Given the description of an element on the screen output the (x, y) to click on. 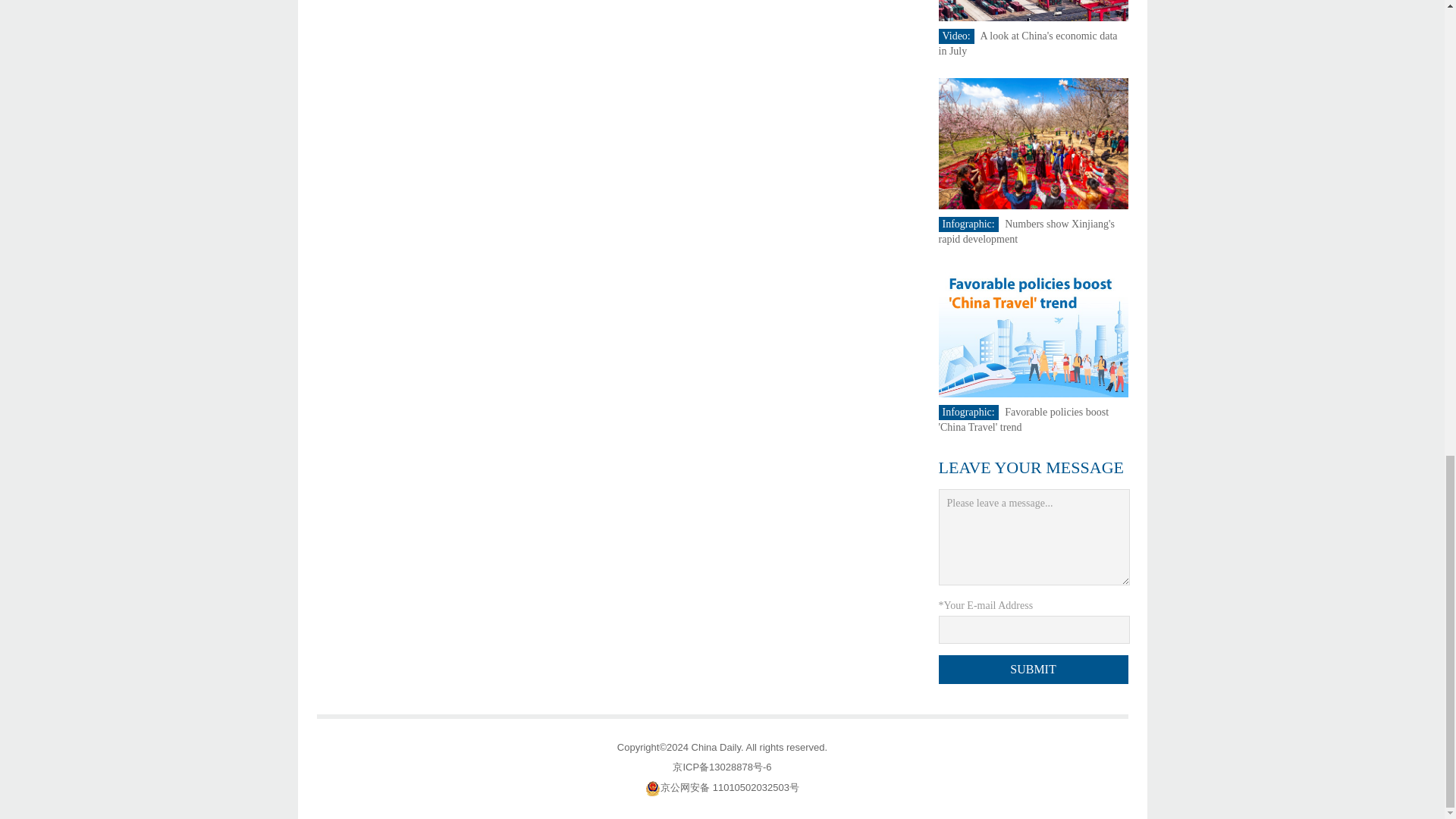
LEAVE YOUR MESSAGE (1031, 466)
Favorable policies boost 'China Travel' trend (1024, 419)
Numbers show Xinjiang's rapid development (1027, 231)
A look at China's economic data in July (1028, 43)
Submit (1033, 669)
Submit (1033, 669)
